Given the description of an element on the screen output the (x, y) to click on. 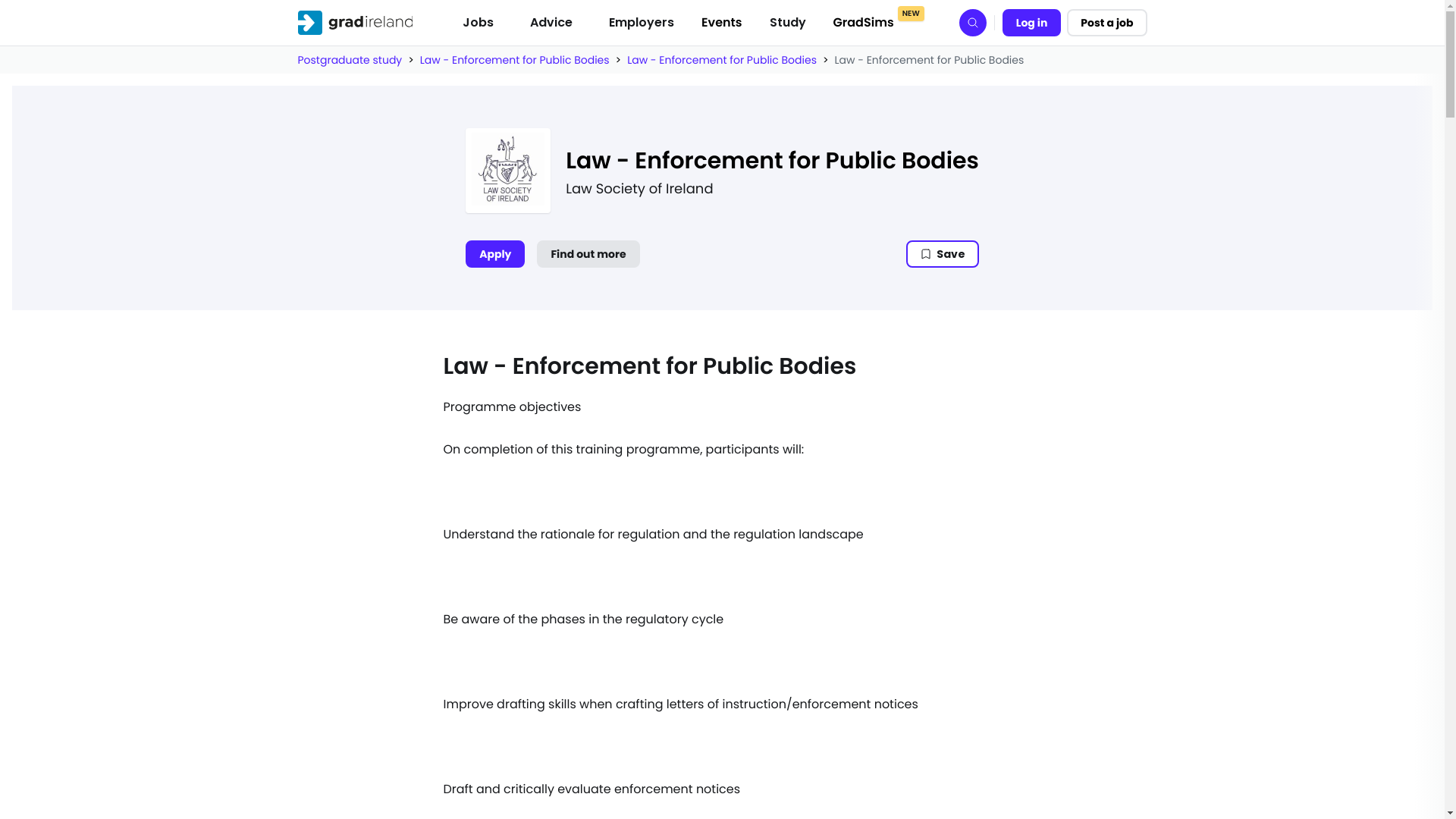
Jobs (477, 22)
Advice (550, 22)
